Given the description of an element on the screen output the (x, y) to click on. 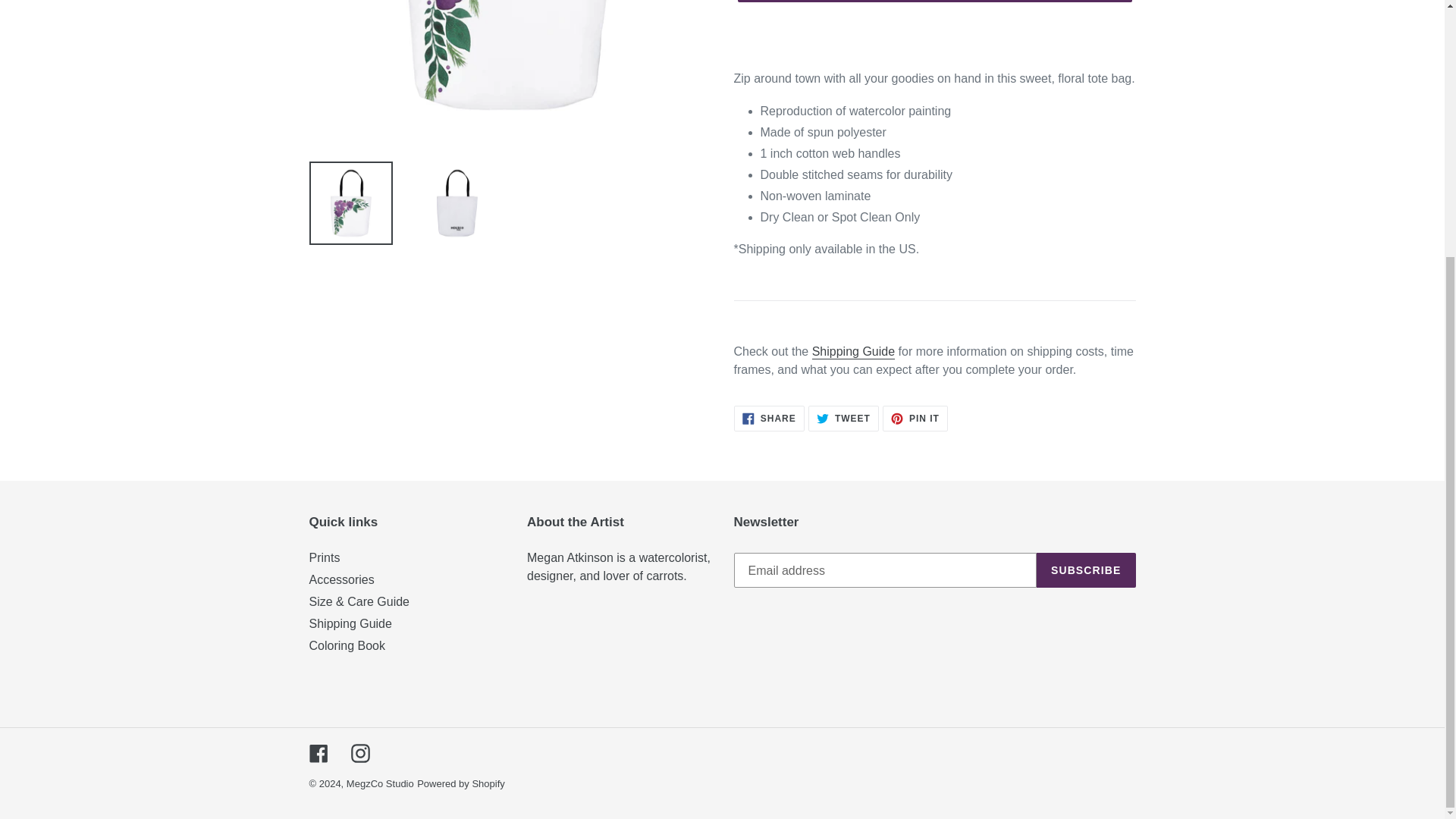
Shipping Guide (349, 623)
Coloring Book (346, 645)
SUBSCRIBE (1085, 570)
MegzCo Studio (379, 783)
MegzCo Studio Shipping Guide (914, 418)
Prints (853, 351)
Powered by Shopify (324, 557)
Shipping Guide (460, 783)
